Given the description of an element on the screen output the (x, y) to click on. 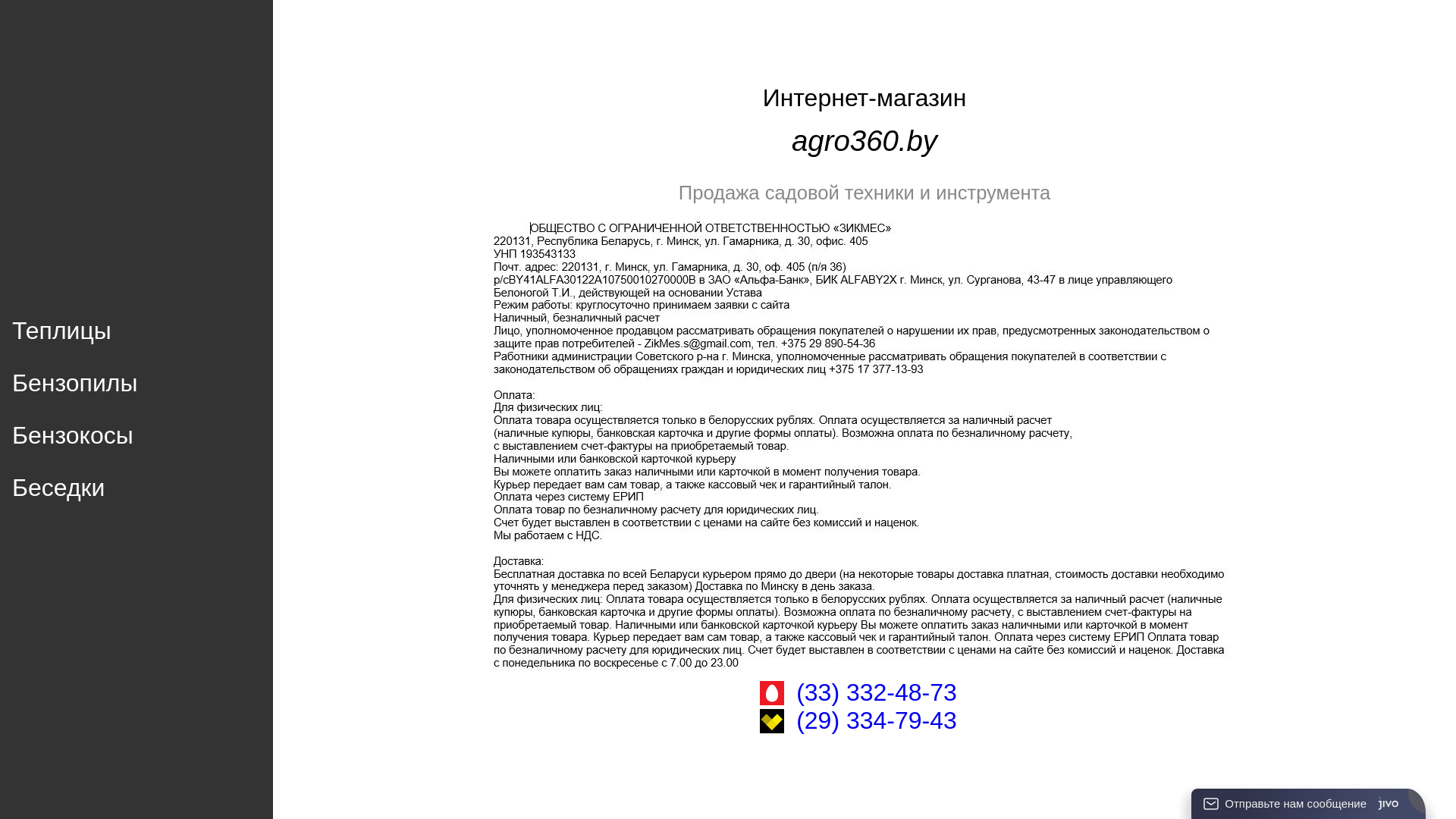
(29) 334-79-43 Element type: text (876, 720)
(33) 332-48-73 Element type: text (876, 692)
